Given the description of an element on the screen output the (x, y) to click on. 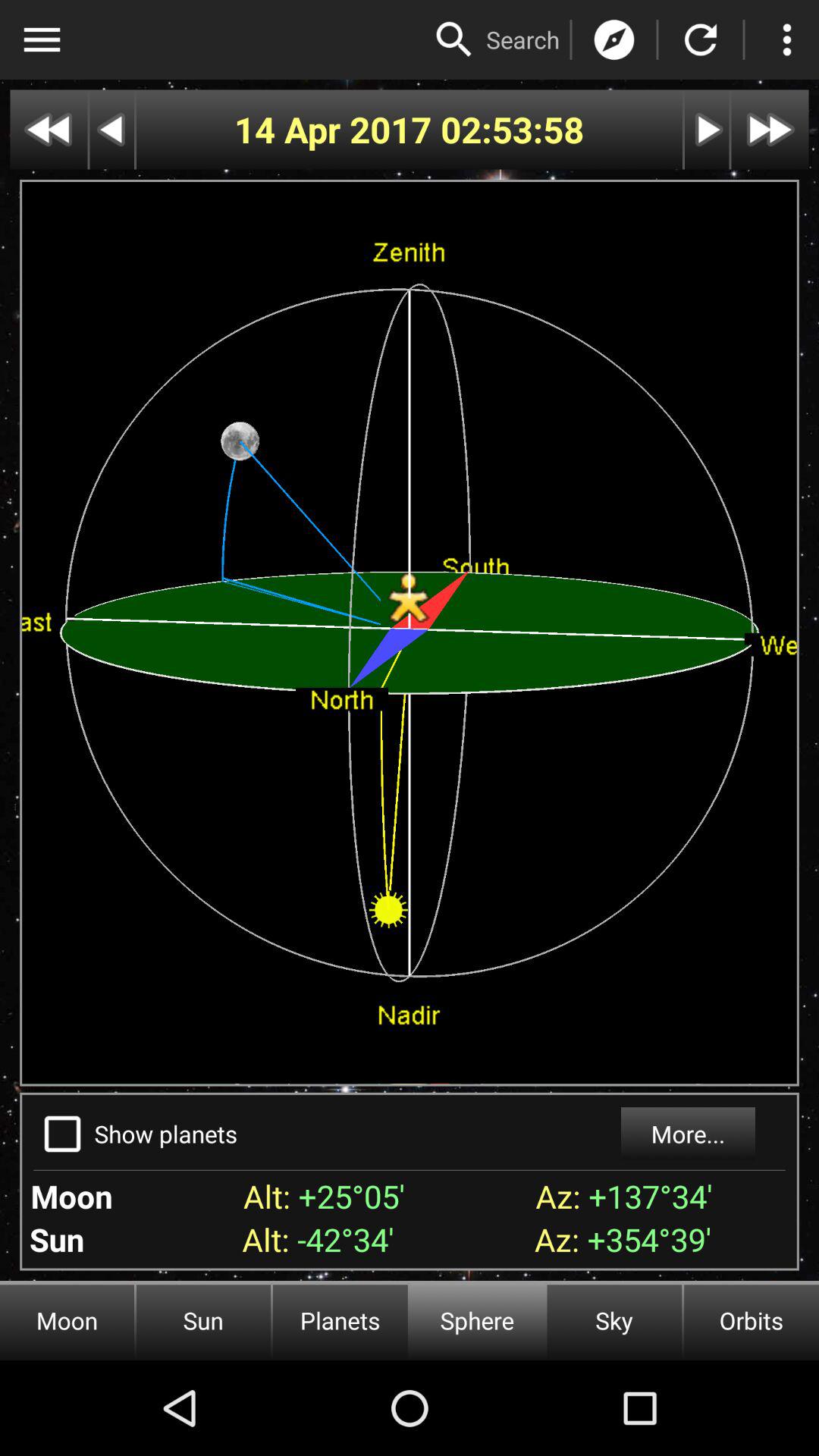
go to next date selection (706, 129)
